Given the description of an element on the screen output the (x, y) to click on. 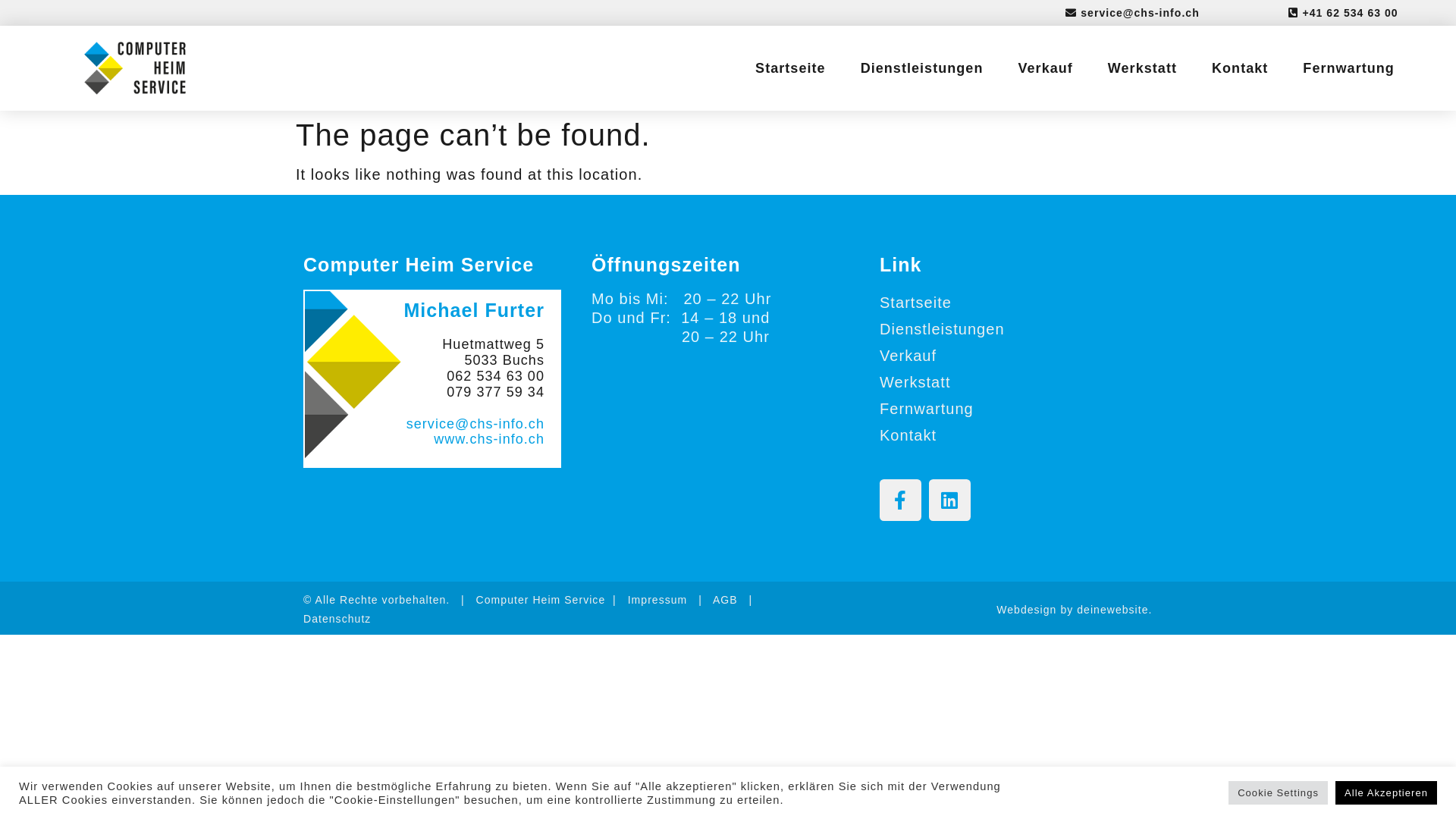
+41 62 534 63 00 Element type: text (1342, 12)
Startseite Element type: text (1008, 302)
AGB Element type: text (724, 599)
Kontakt Element type: text (1008, 435)
Dienstleistungen Element type: text (1008, 329)
deinewebsite. Element type: text (1113, 609)
service@chs-info.ch Element type: text (1132, 12)
service@chs-info.ch Element type: text (475, 423)
Werkstatt Element type: text (1142, 68)
Impressum Element type: text (657, 599)
Datenschutz Element type: text (336, 618)
Cookie Settings Element type: text (1277, 792)
Alle Akzeptieren Element type: text (1386, 792)
Verkauf Element type: text (1044, 68)
Fernwartung Element type: text (1008, 408)
Kontakt Element type: text (1239, 68)
www.chs-info.ch Element type: text (488, 438)
Dienstleistungen Element type: text (921, 68)
Werkstatt Element type: text (1008, 382)
Verkauf Element type: text (1008, 355)
Startseite Element type: text (790, 68)
Fernwartung Element type: text (1348, 68)
